Given the description of an element on the screen output the (x, y) to click on. 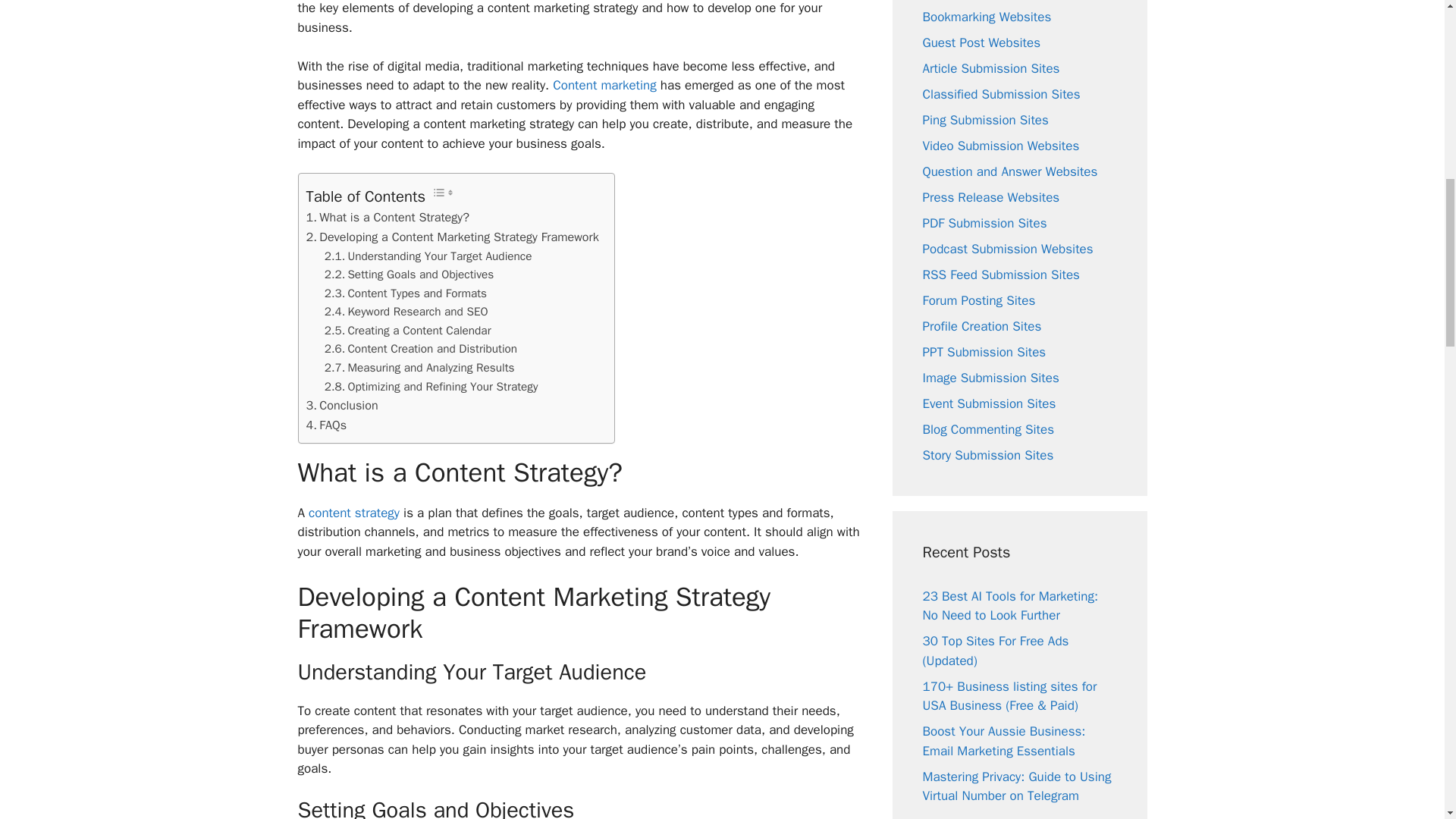
Measuring and Analyzing Results (419, 367)
Optimizing and Refining Your Strategy (431, 386)
Creating a Content Calendar (408, 330)
Content Creation and Distribution (420, 348)
Understanding Your Target Audience (428, 256)
Content Types and Formats (405, 293)
Keyword Research and SEO (405, 311)
Conclusion (341, 405)
What is a Content Strategy? (386, 217)
Developing a Content Marketing Strategy Framework (451, 237)
FAQs (326, 424)
Setting Goals and Objectives (409, 274)
